Given the description of an element on the screen output the (x, y) to click on. 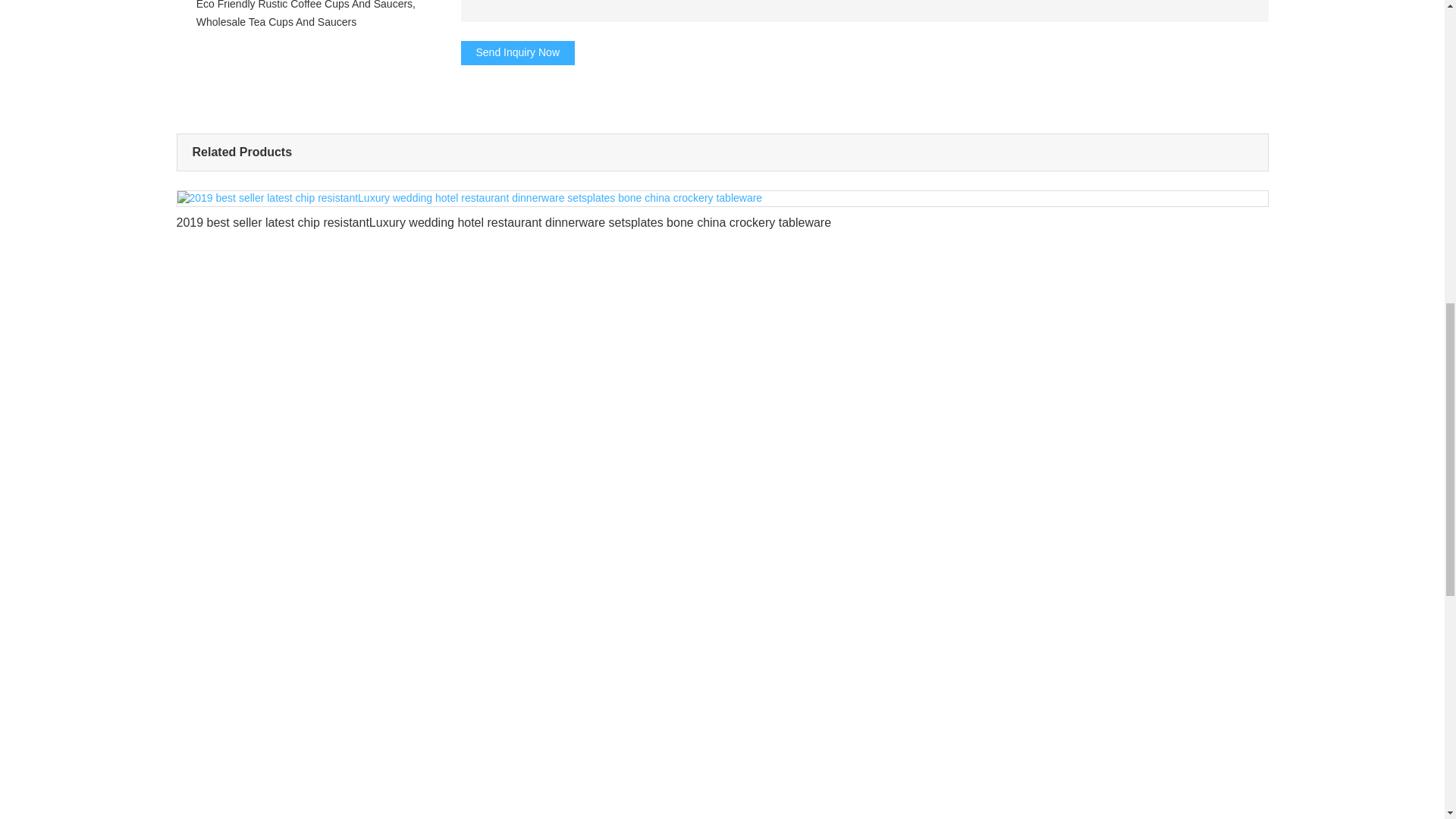
Send Inquiry Now (518, 52)
